Given the description of an element on the screen output the (x, y) to click on. 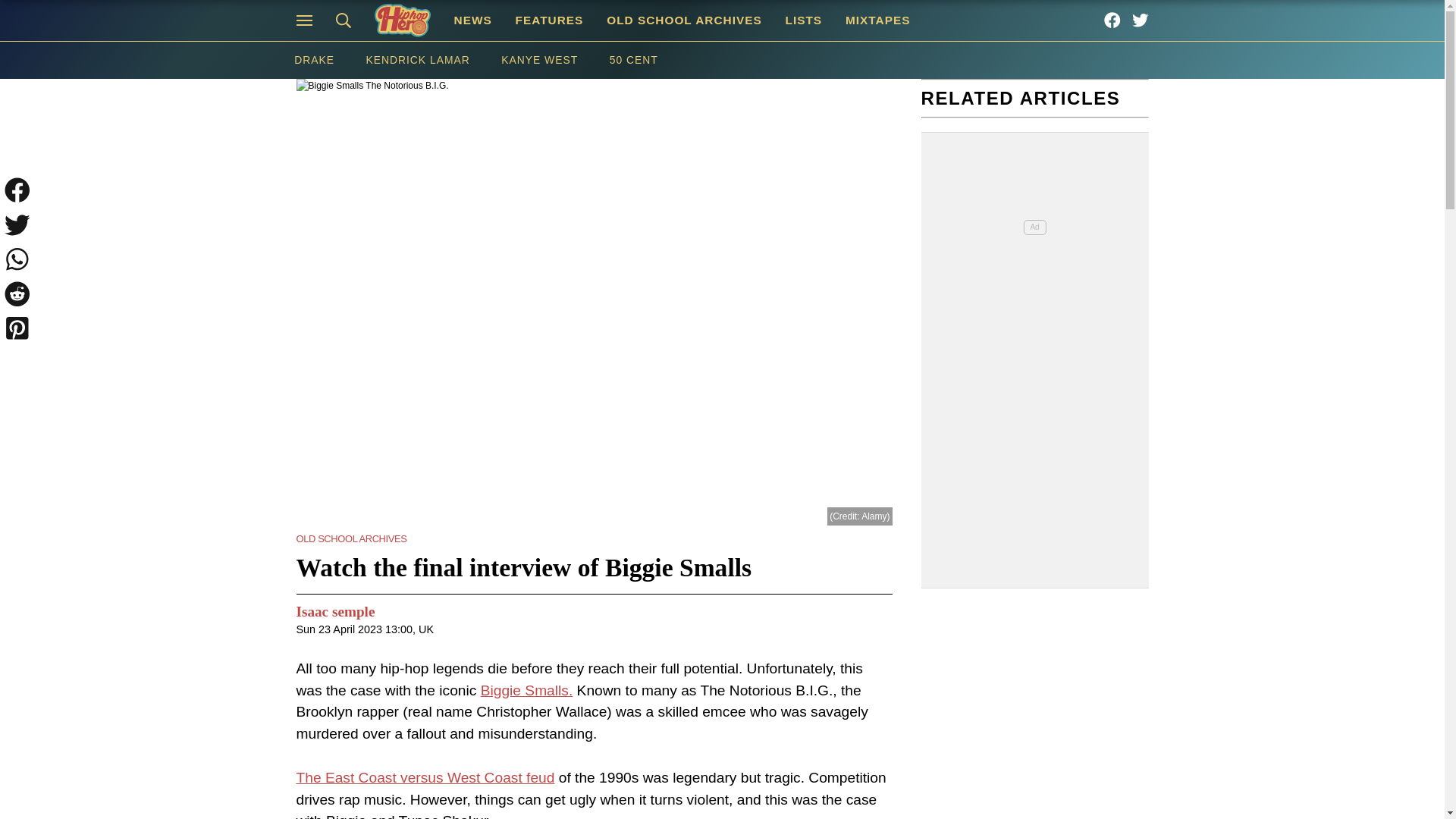
OLD SCHOOL ARCHIVES (684, 20)
Hip Hop Hero on Facebook (1112, 20)
KANYE WEST (538, 59)
LISTS (802, 20)
Isaac semple (334, 612)
DRAKE (313, 59)
Hip Hop Hero on Twitter (1140, 20)
KENDRICK LAMAR (418, 59)
Biggie Smalls. (526, 690)
Posts by Isaac semple (334, 612)
